Given the description of an element on the screen output the (x, y) to click on. 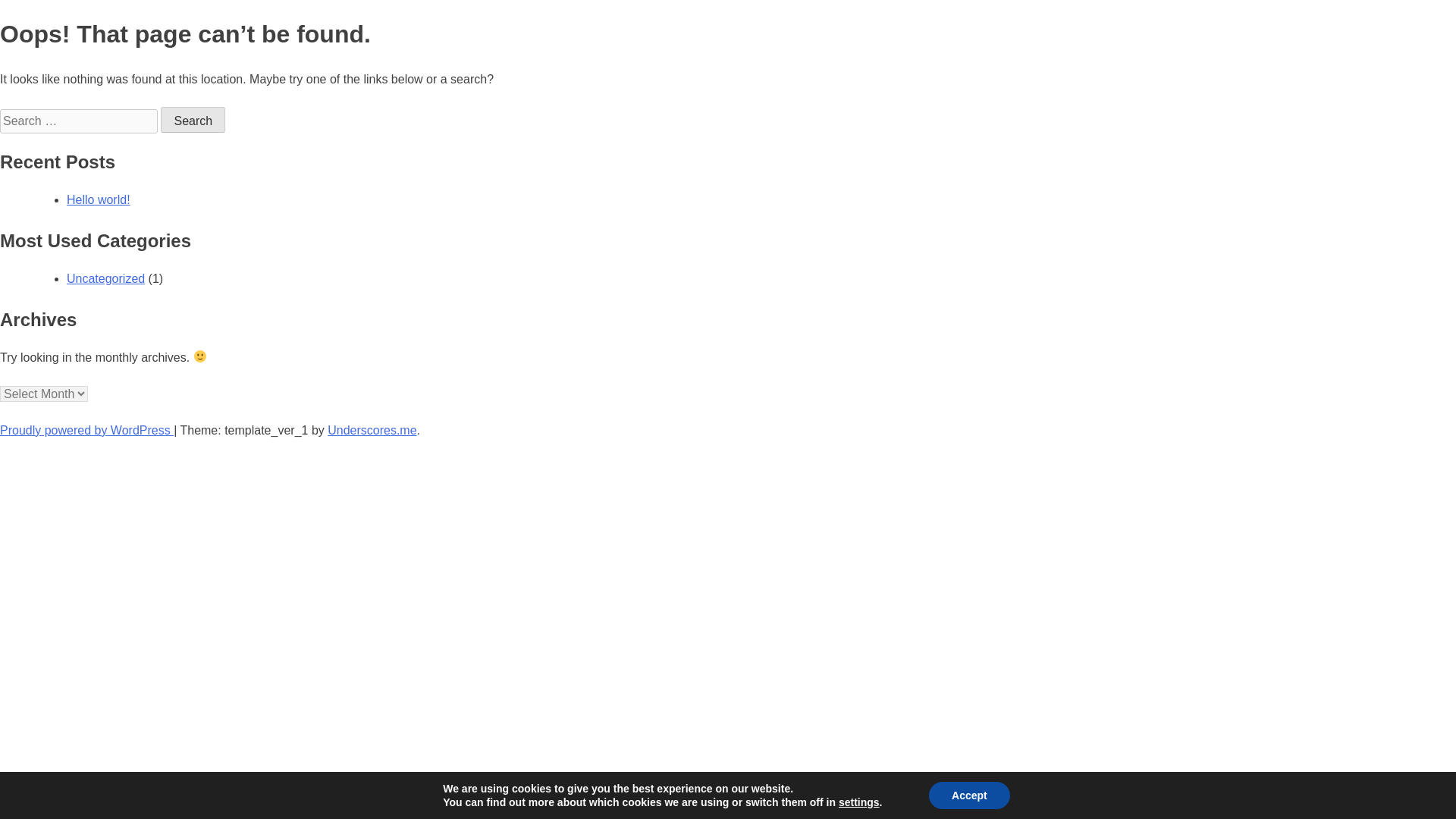
Search (192, 119)
Search (192, 119)
Uncategorized (105, 278)
Hello world! (98, 199)
Search (192, 119)
